Given the description of an element on the screen output the (x, y) to click on. 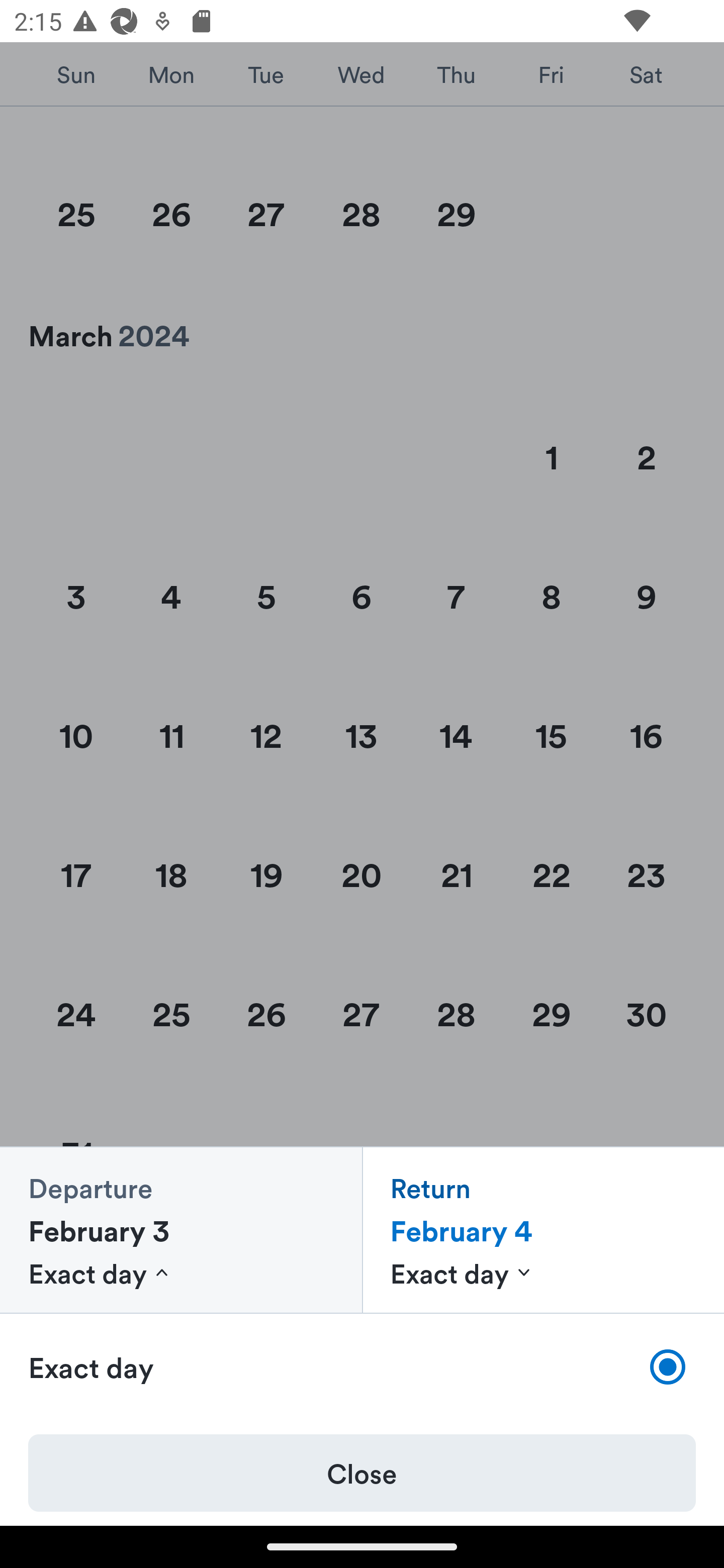
Exact day (362, 1366)
Close (361, 1472)
